Given the description of an element on the screen output the (x, y) to click on. 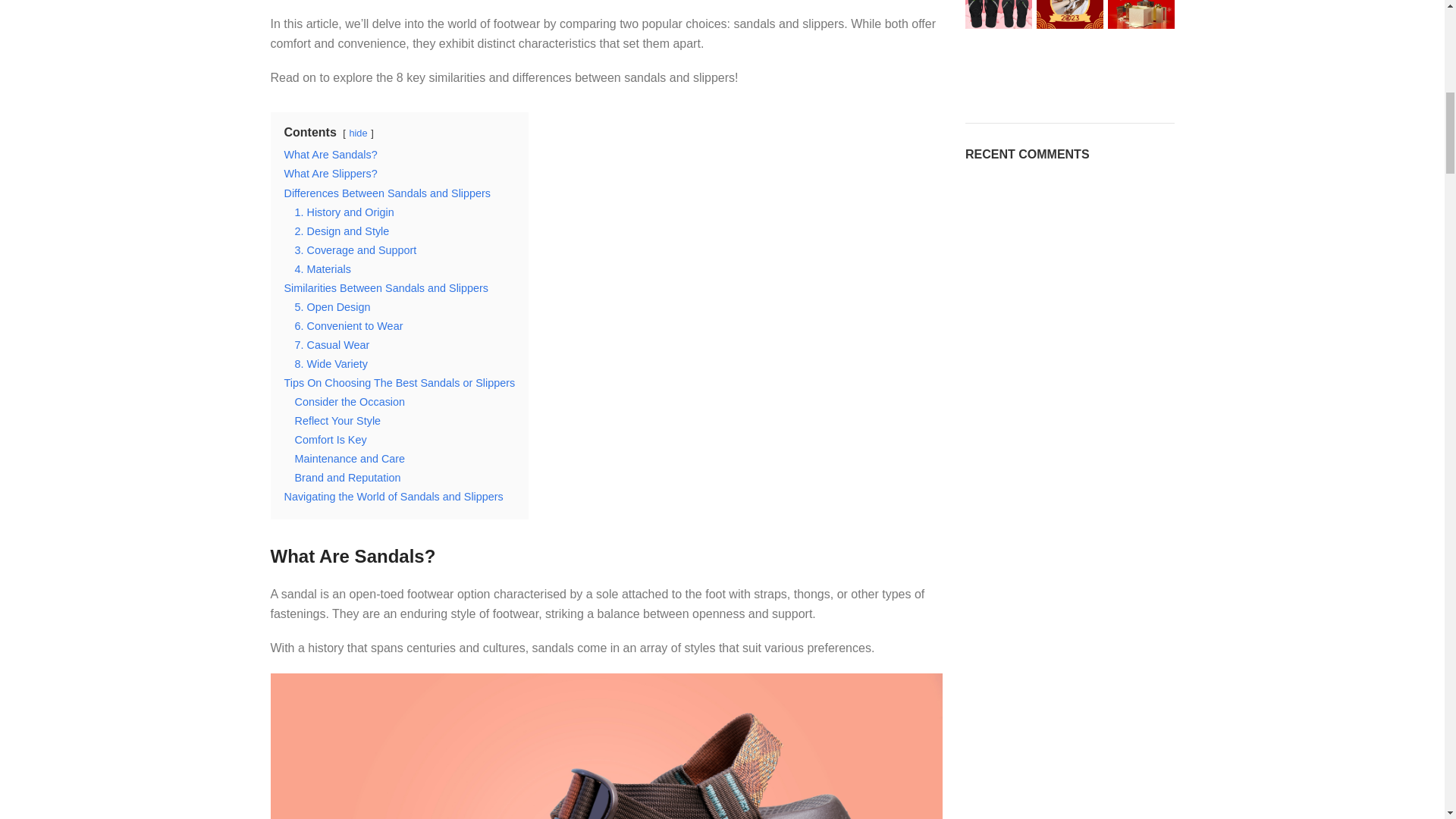
What Are Sandals? (330, 154)
Differences Between Sandals and Slippers (386, 193)
What Are Slippers? (330, 173)
hide (357, 132)
